Given the description of an element on the screen output the (x, y) to click on. 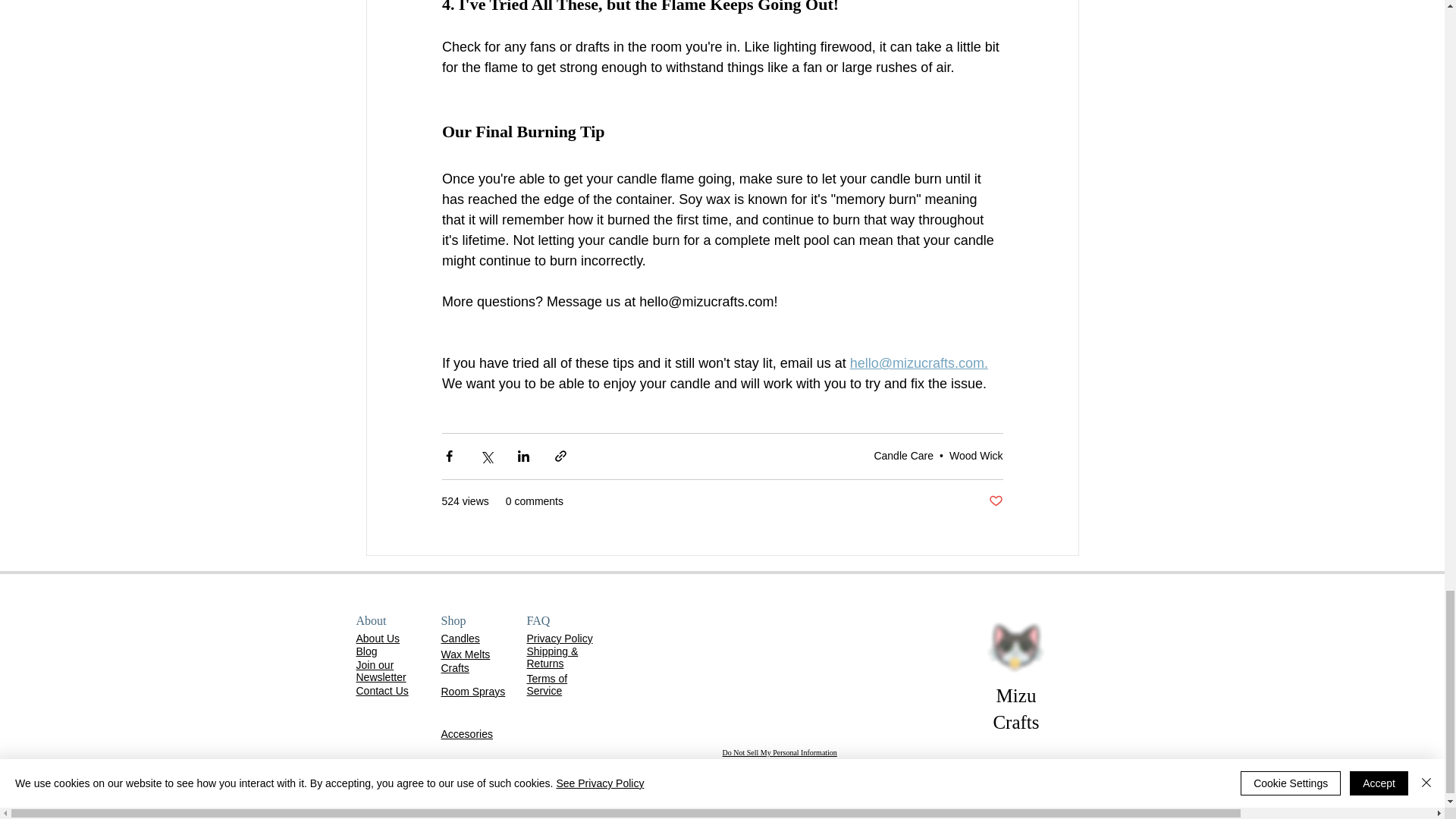
About Us (378, 638)
Candle Care (903, 455)
Post not marked as liked (995, 501)
Wood Wick (976, 455)
